Given the description of an element on the screen output the (x, y) to click on. 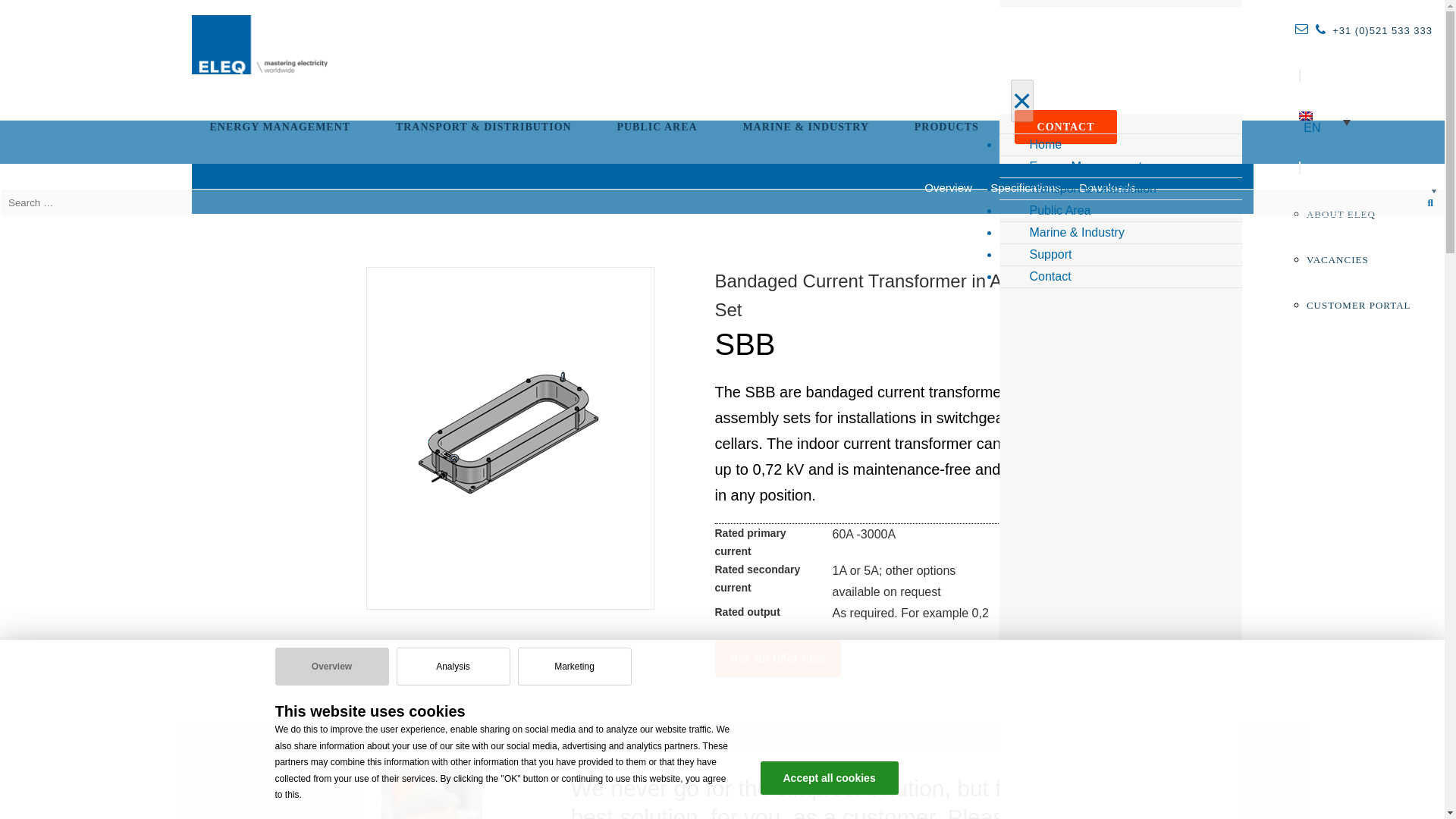
Eleq Logo (258, 44)
CUSTOMER PORTAL (1358, 305)
Accept all cookies (829, 777)
EN (1324, 121)
Call (1320, 29)
ENERGY MANAGEMENT (280, 126)
Customer portal (1358, 305)
Vacancies (1337, 259)
Mail (1301, 29)
VACANCIES (1337, 259)
PUBLIC AREA (656, 126)
About ELEQ (1351, 214)
ABOUT ELEQ (1351, 214)
